Given the description of an element on the screen output the (x, y) to click on. 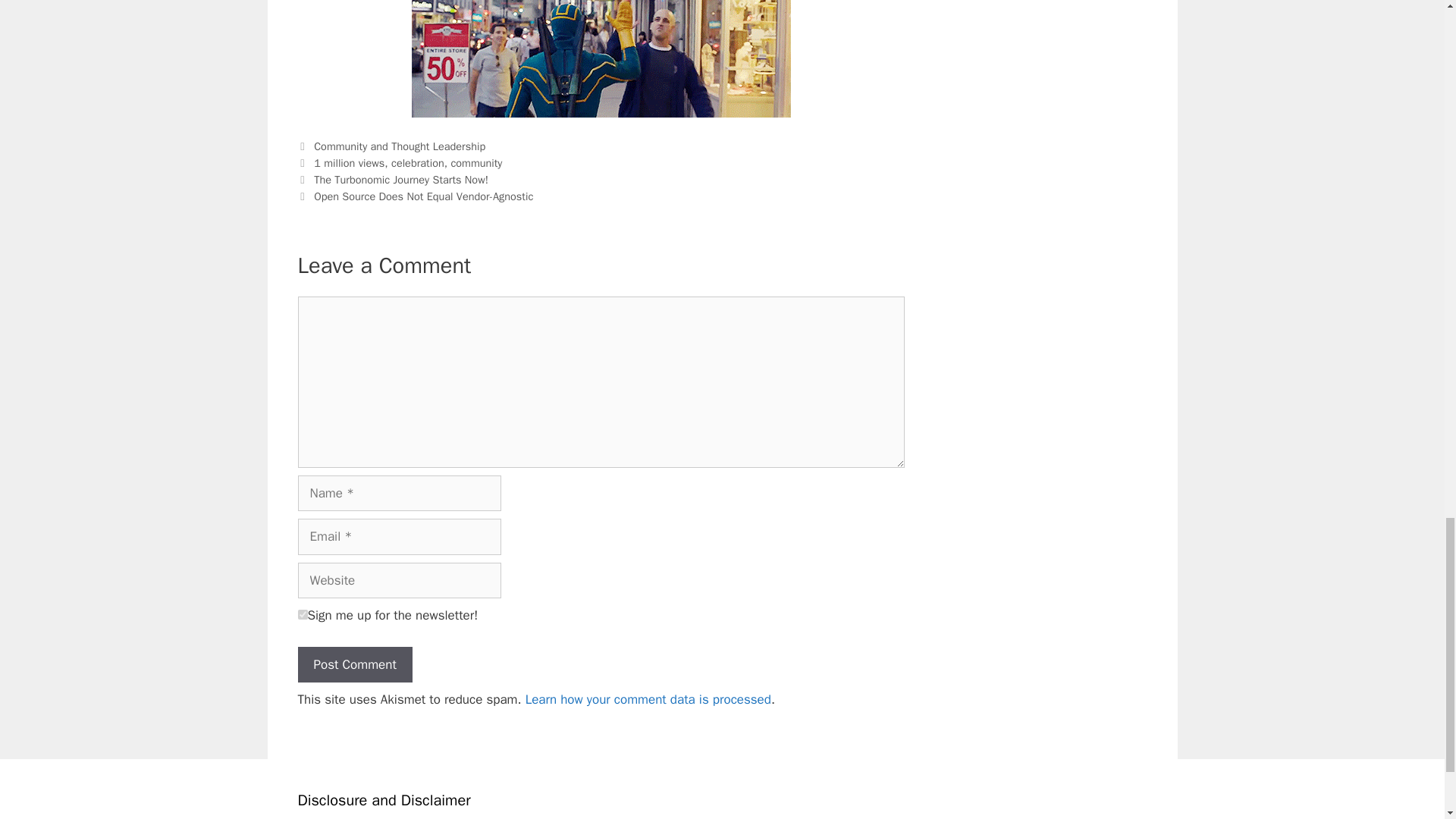
The Turbonomic Journey Starts Now! (400, 179)
community (475, 162)
Open Source Does Not Equal Vendor-Agnostic (423, 196)
Learn how your comment data is processed (648, 699)
Post Comment (354, 665)
Post Comment (354, 665)
celebration (417, 162)
1 million views (349, 162)
1 (302, 614)
Community and Thought Leadership (399, 146)
